Given the description of an element on the screen output the (x, y) to click on. 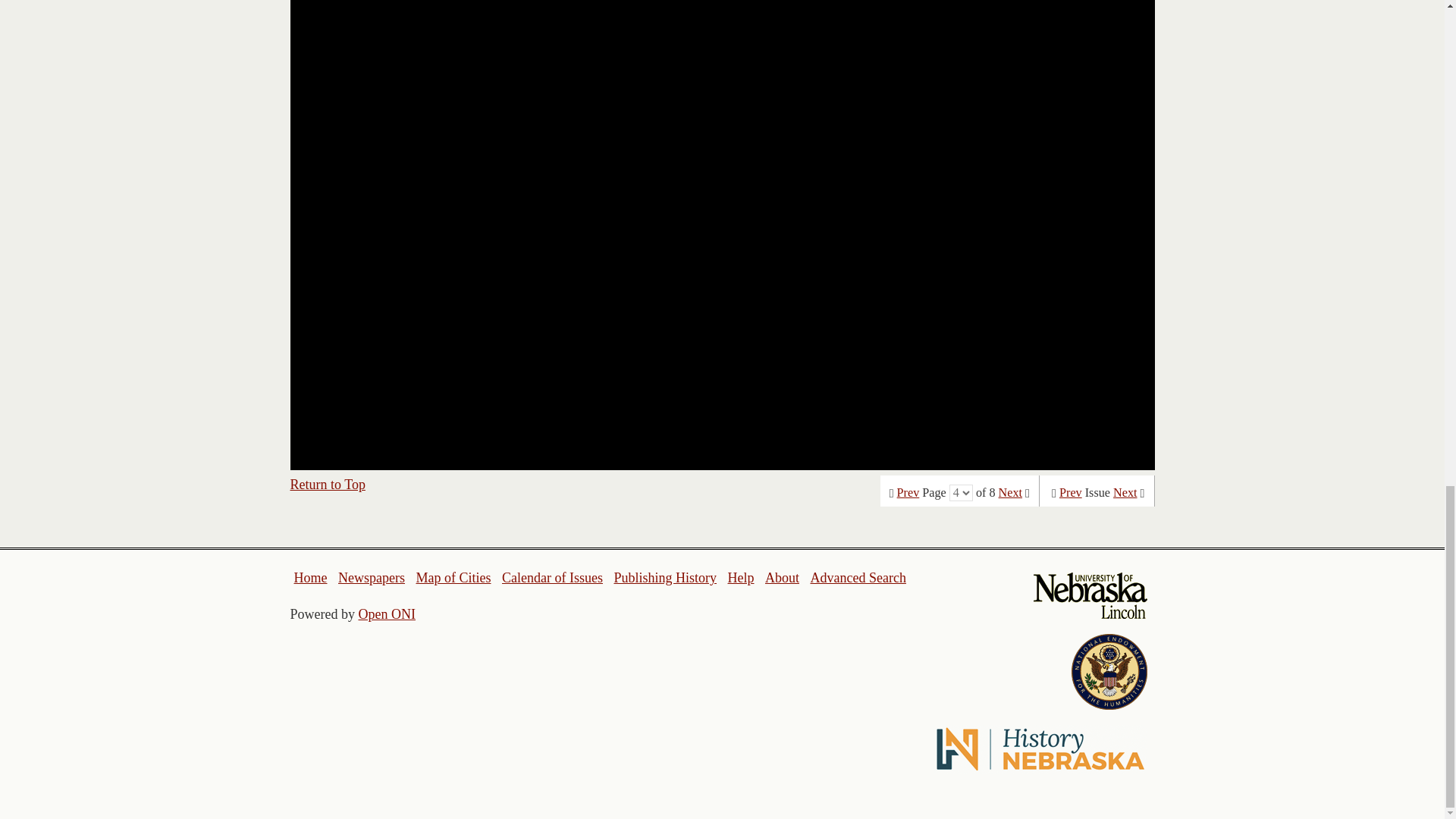
Prev (1070, 492)
Calendar of Issues (552, 577)
Advanced Search (857, 577)
Open ONI (386, 613)
Home (310, 577)
About (782, 577)
Publishing History (664, 577)
Return to Top (327, 484)
Newspapers (370, 577)
Prev (908, 492)
Next (1125, 492)
Map of Cities (452, 577)
Next (1010, 492)
Help (740, 577)
